Given the description of an element on the screen output the (x, y) to click on. 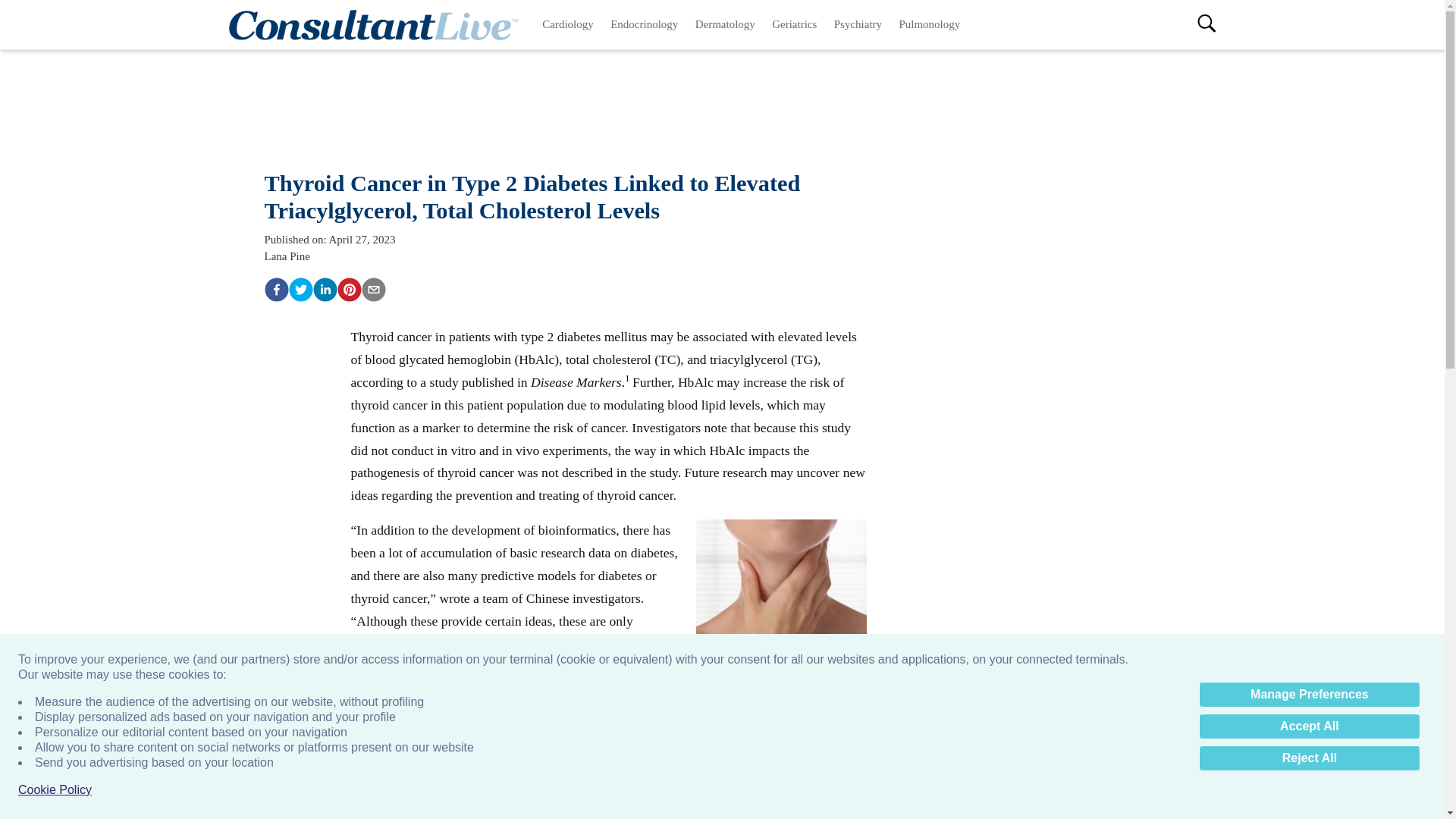
Cookie Policy (54, 789)
Manage Preferences (1309, 694)
Geriatrics (793, 24)
Reject All (1309, 758)
Endocrinology (644, 24)
Dermatology (725, 24)
Cardiology (568, 24)
Accept All (1309, 726)
Pulmonology (928, 24)
Lana Pine (285, 256)
Psychiatry (858, 24)
